Given the description of an element on the screen output the (x, y) to click on. 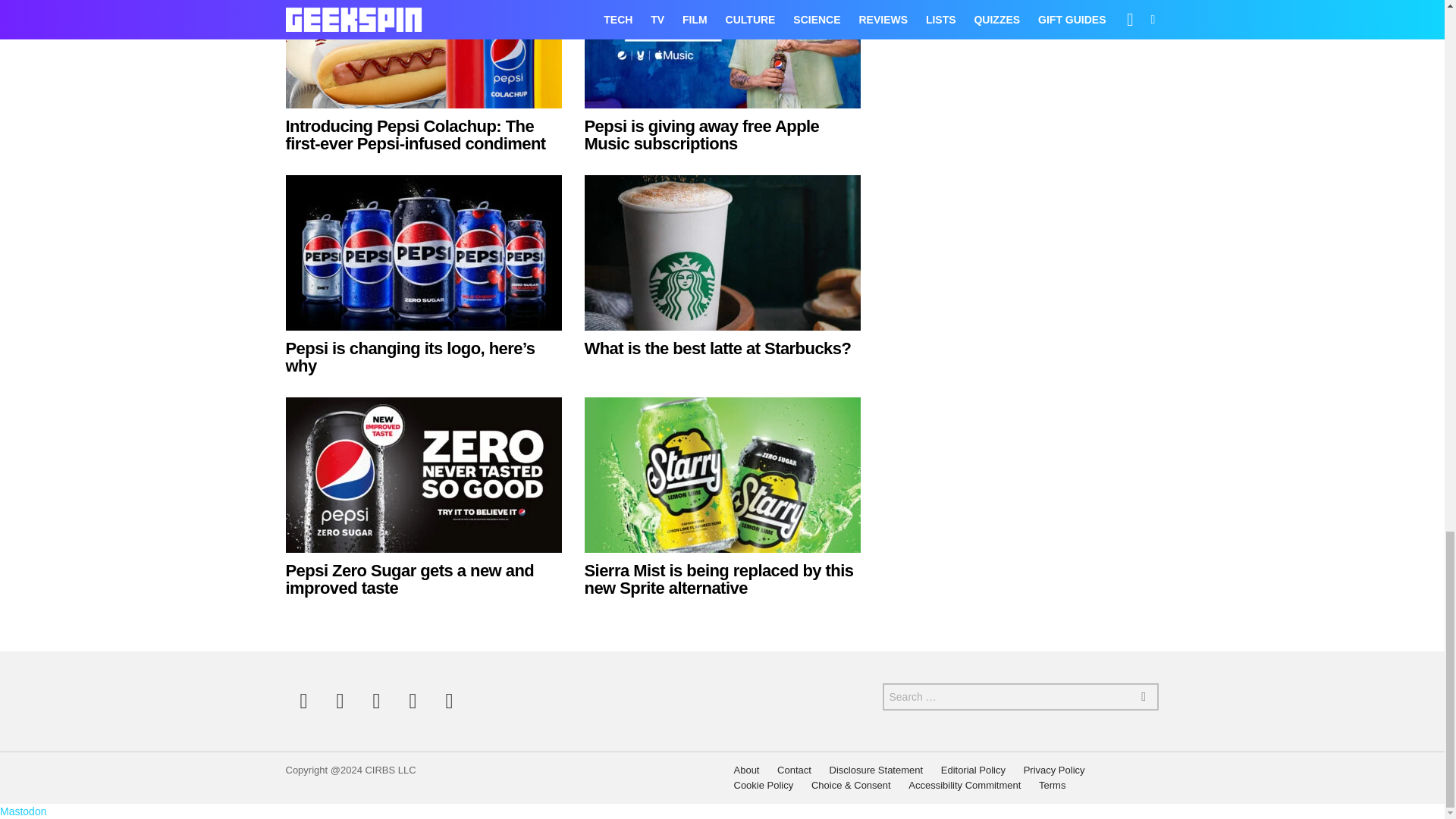
What is the best latte at Starbucks? (716, 348)
Pepsi Zero Sugar gets a new and improved taste (422, 474)
What is the best latte at Starbucks? (721, 252)
Sierra Mist is being replaced by this new Sprite alternative (718, 579)
Pepsi Zero Sugar gets a new and improved taste (409, 579)
Facebook (303, 701)
Pepsi is giving away free Apple Music subscriptions (721, 54)
Pepsi is giving away free Apple Music subscriptions (700, 135)
